Given the description of an element on the screen output the (x, y) to click on. 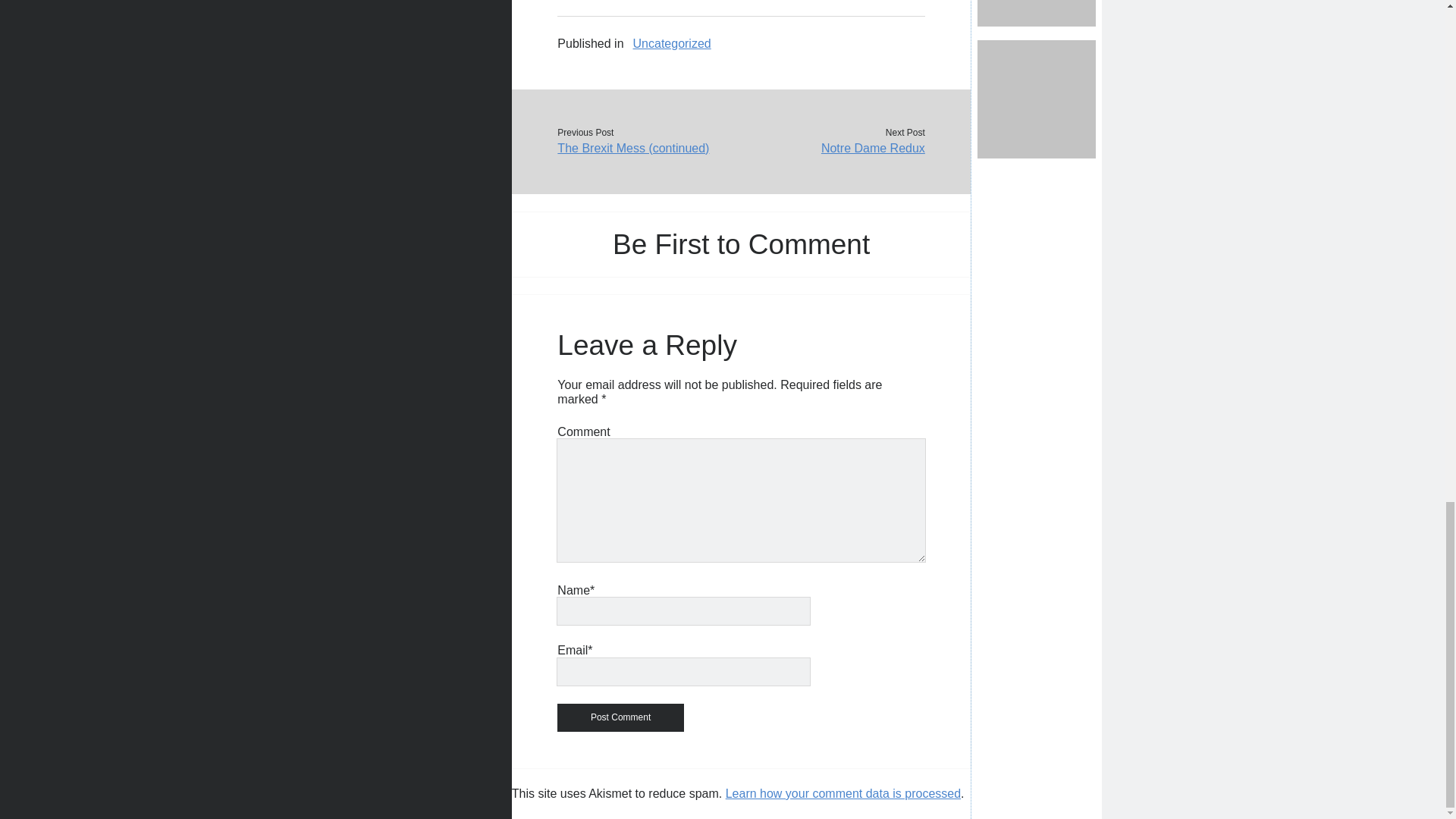
Post Comment (620, 717)
Learn how your comment data is processed (842, 793)
View all posts in Uncategorized (672, 44)
Uncategorized (672, 44)
Notre Dame Redux (832, 148)
Post Comment (620, 717)
